Given the description of an element on the screen output the (x, y) to click on. 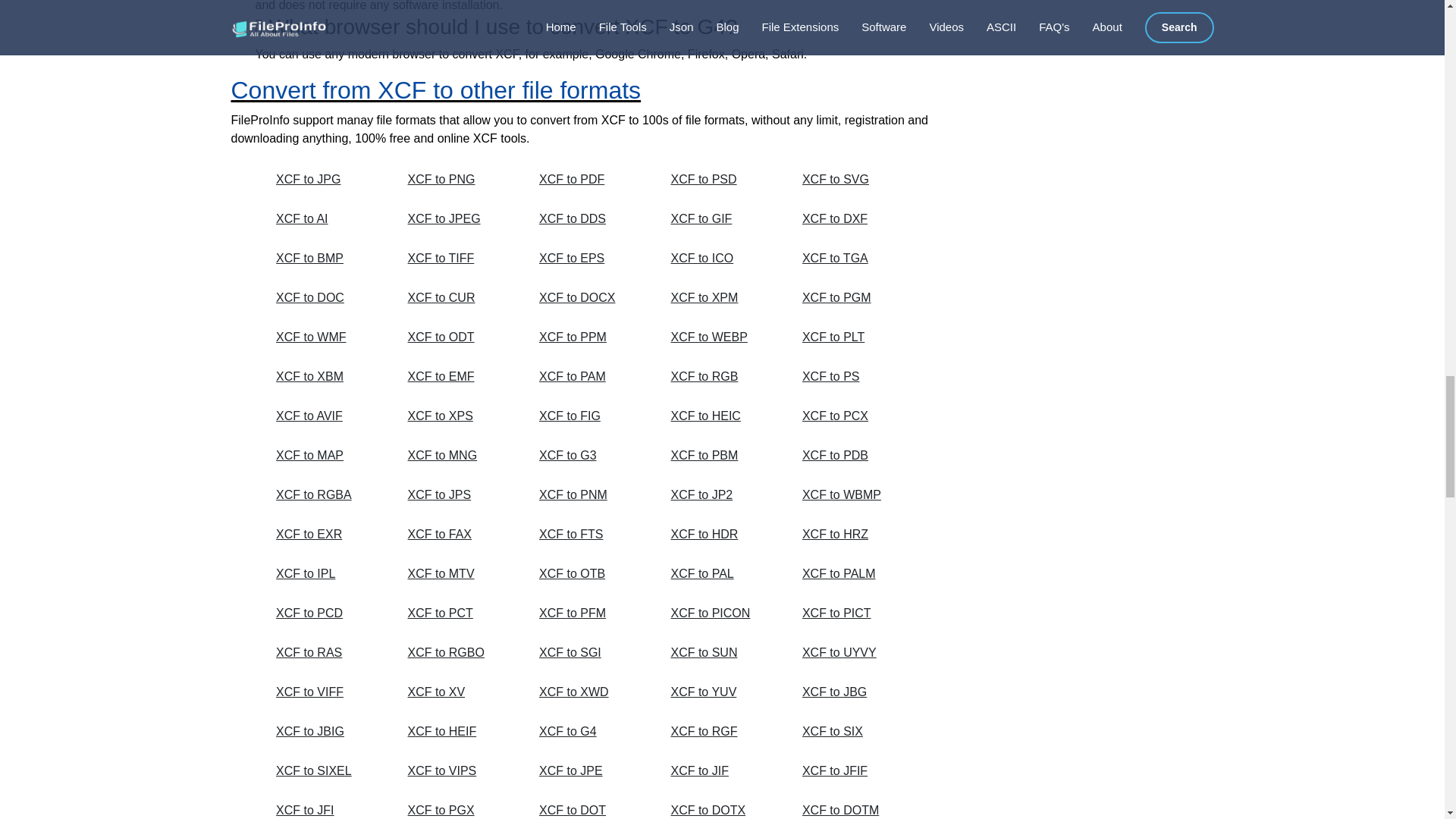
XCF to JPG (325, 179)
Convert from XCF to other file formats (435, 90)
XCF to AI (325, 218)
XCF to JPEG (456, 218)
XCF to DDS (587, 218)
XCF to PSD (719, 179)
XCF to SVG (851, 179)
XCF to PNG (456, 179)
XCF to PDF (587, 179)
